Given the description of an element on the screen output the (x, y) to click on. 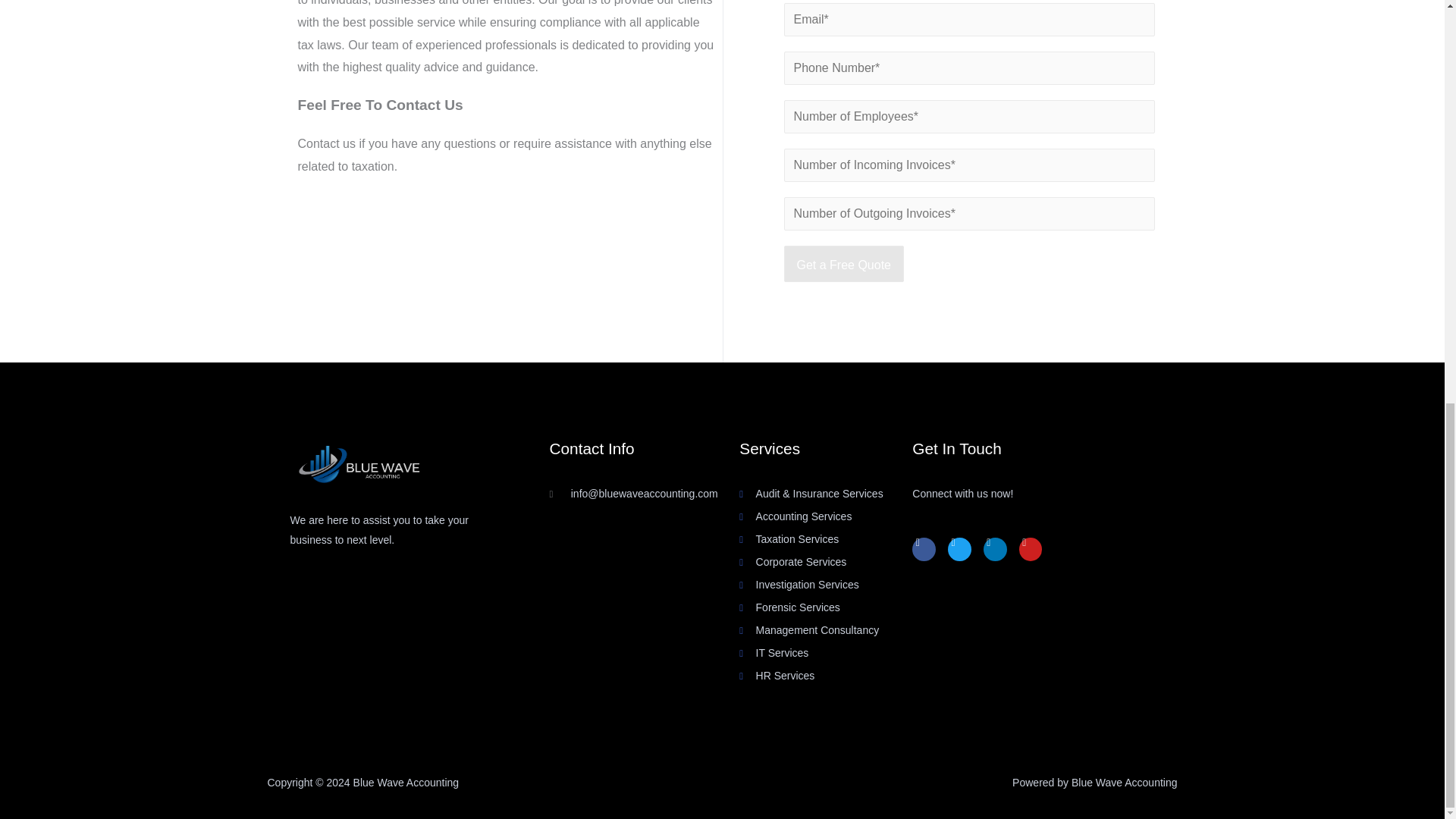
Forensic Services (825, 608)
Management Consultancy (825, 630)
Accounting Services (825, 516)
Get a Free Quote (844, 263)
Corporate Services (825, 562)
Investigation Services (825, 585)
HR Services (825, 676)
IT Services (825, 653)
Taxation Services (825, 539)
